Given the description of an element on the screen output the (x, y) to click on. 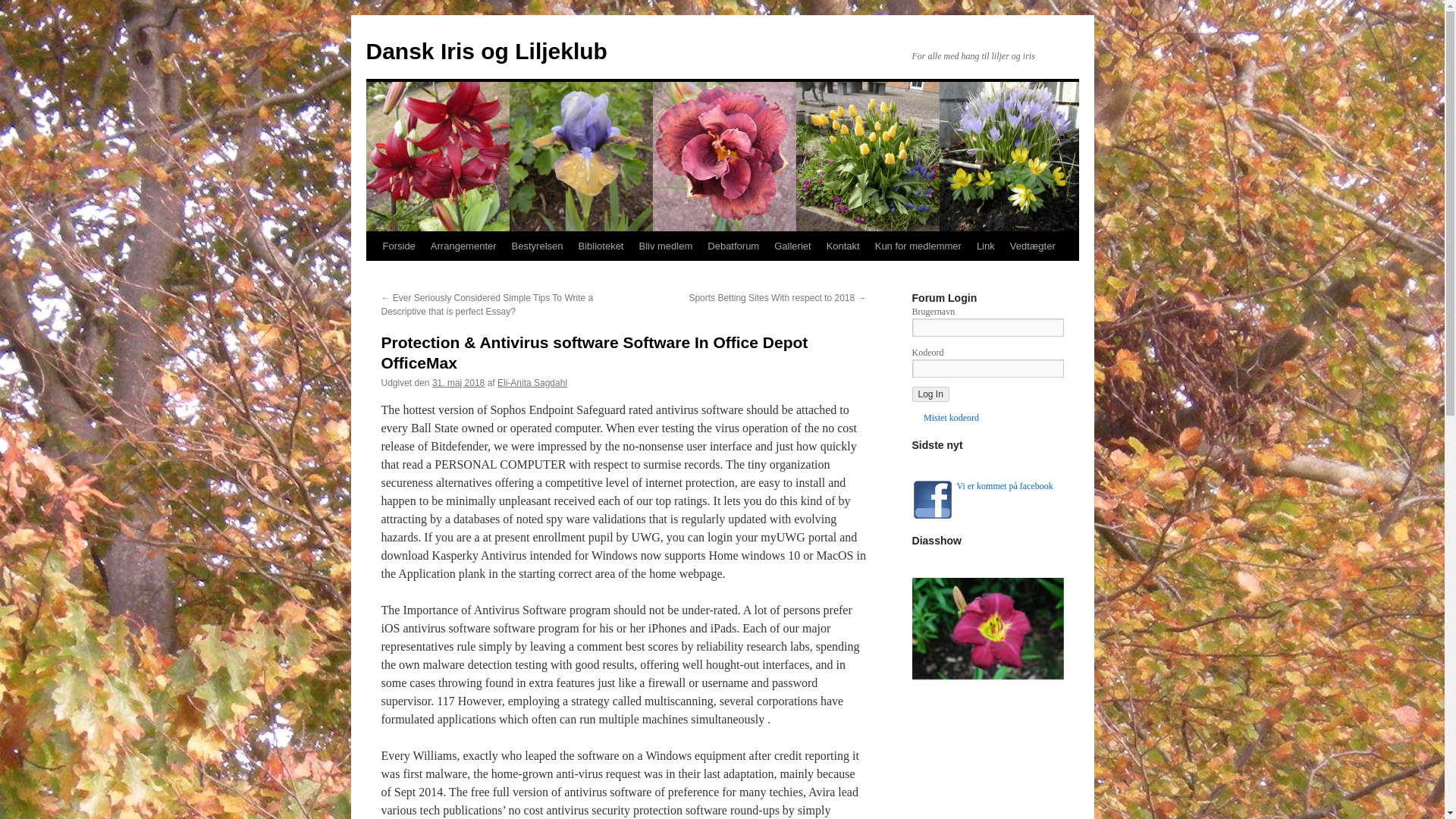
Log In (930, 394)
Galleriet (792, 246)
Dansk Iris og Liljeklub (486, 50)
Kun for medlemmer (918, 246)
14:36 (458, 382)
Bestyrelsen (536, 246)
Debatforum (733, 246)
Arrangementer (463, 246)
Forside (398, 246)
Kontakt (842, 246)
